Given the description of an element on the screen output the (x, y) to click on. 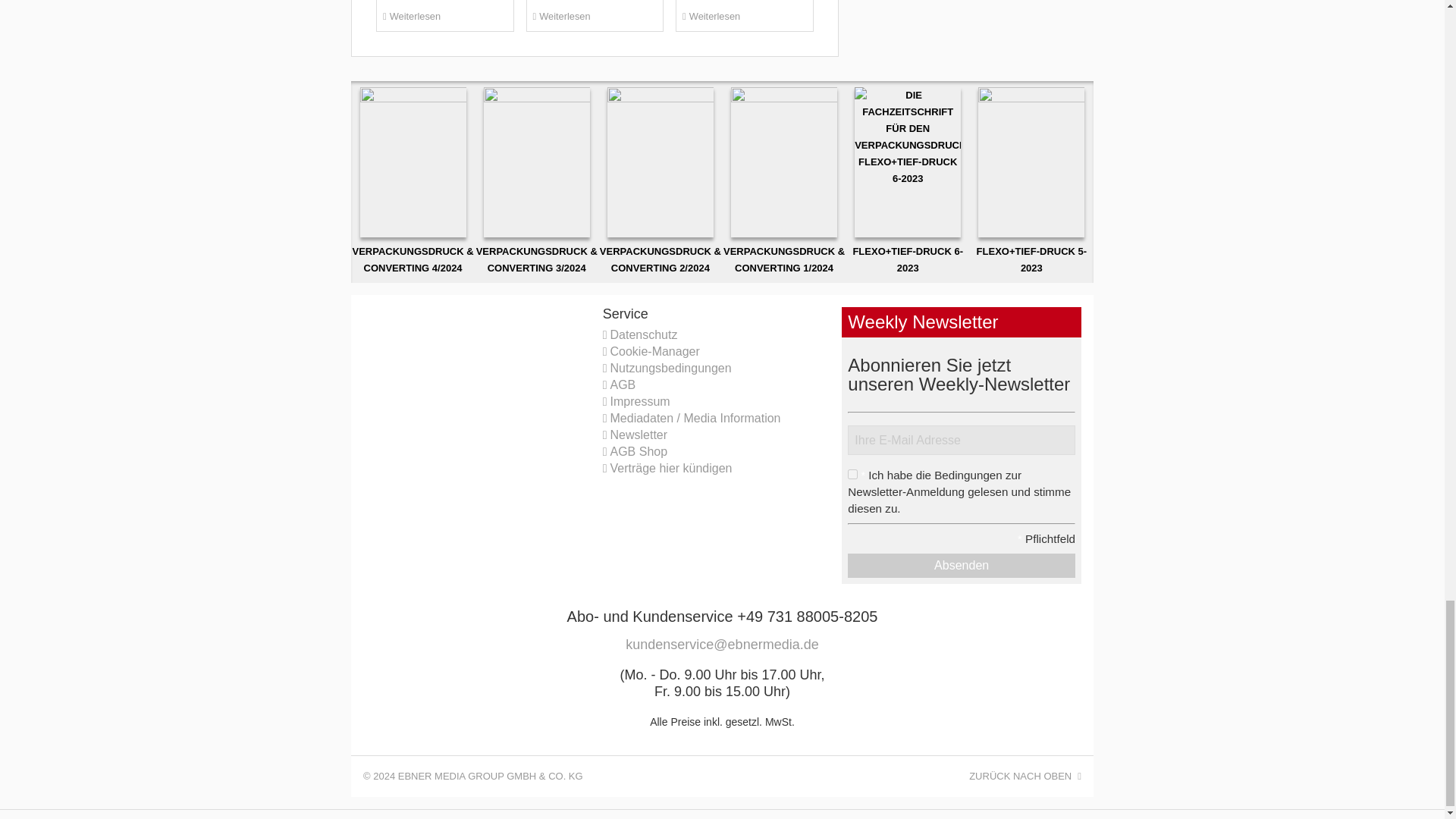
Diesen Artikel lesen (444, 15)
Diesen Artikel lesen (594, 15)
1 (852, 474)
